Given the description of an element on the screen output the (x, y) to click on. 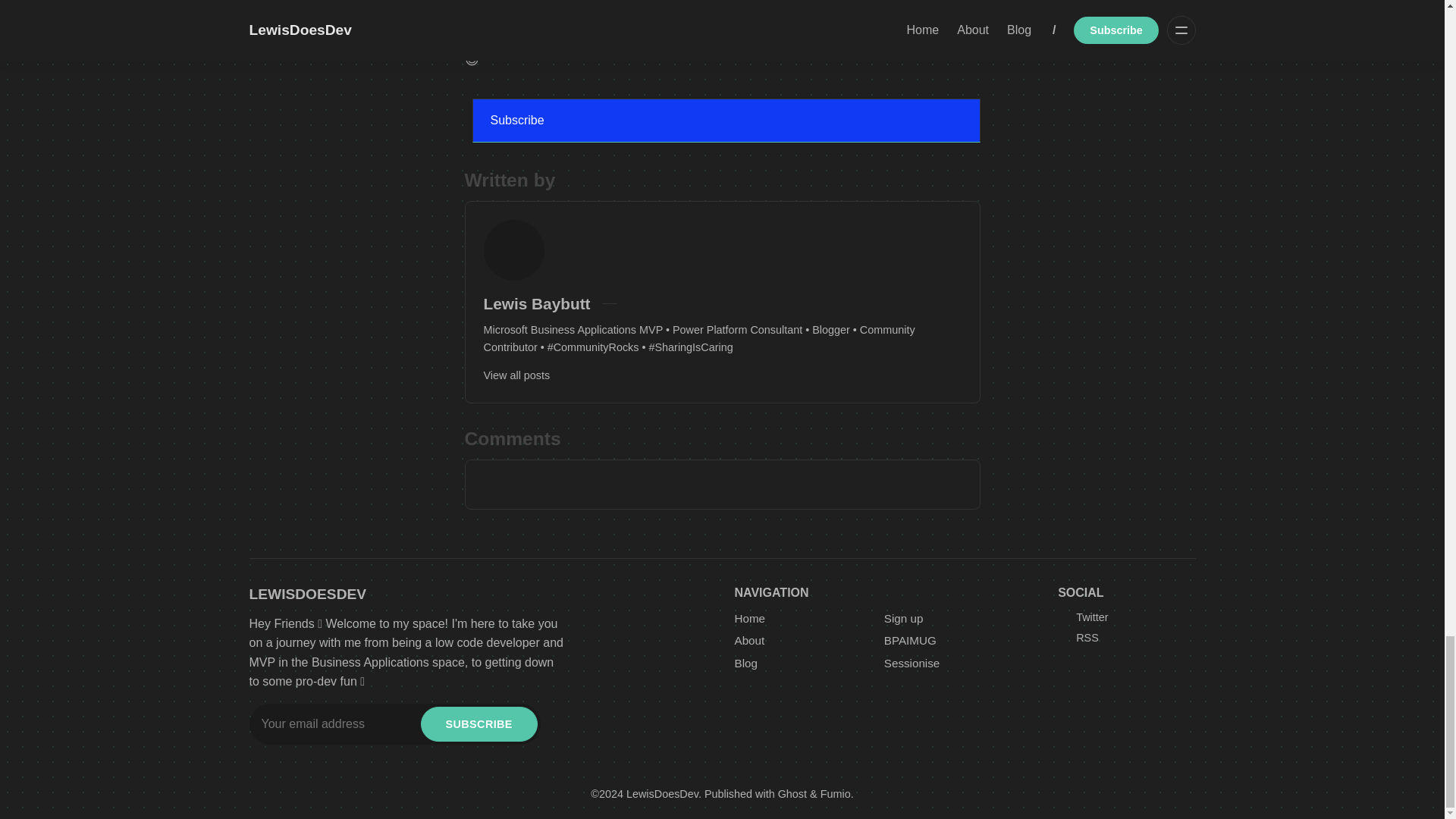
Lewis Baybutt (537, 303)
SUBSCRIBE (478, 724)
Home (749, 618)
About (748, 640)
Subscribe (725, 120)
Blog (745, 663)
Website (635, 304)
View all posts (516, 375)
